Given the description of an element on the screen output the (x, y) to click on. 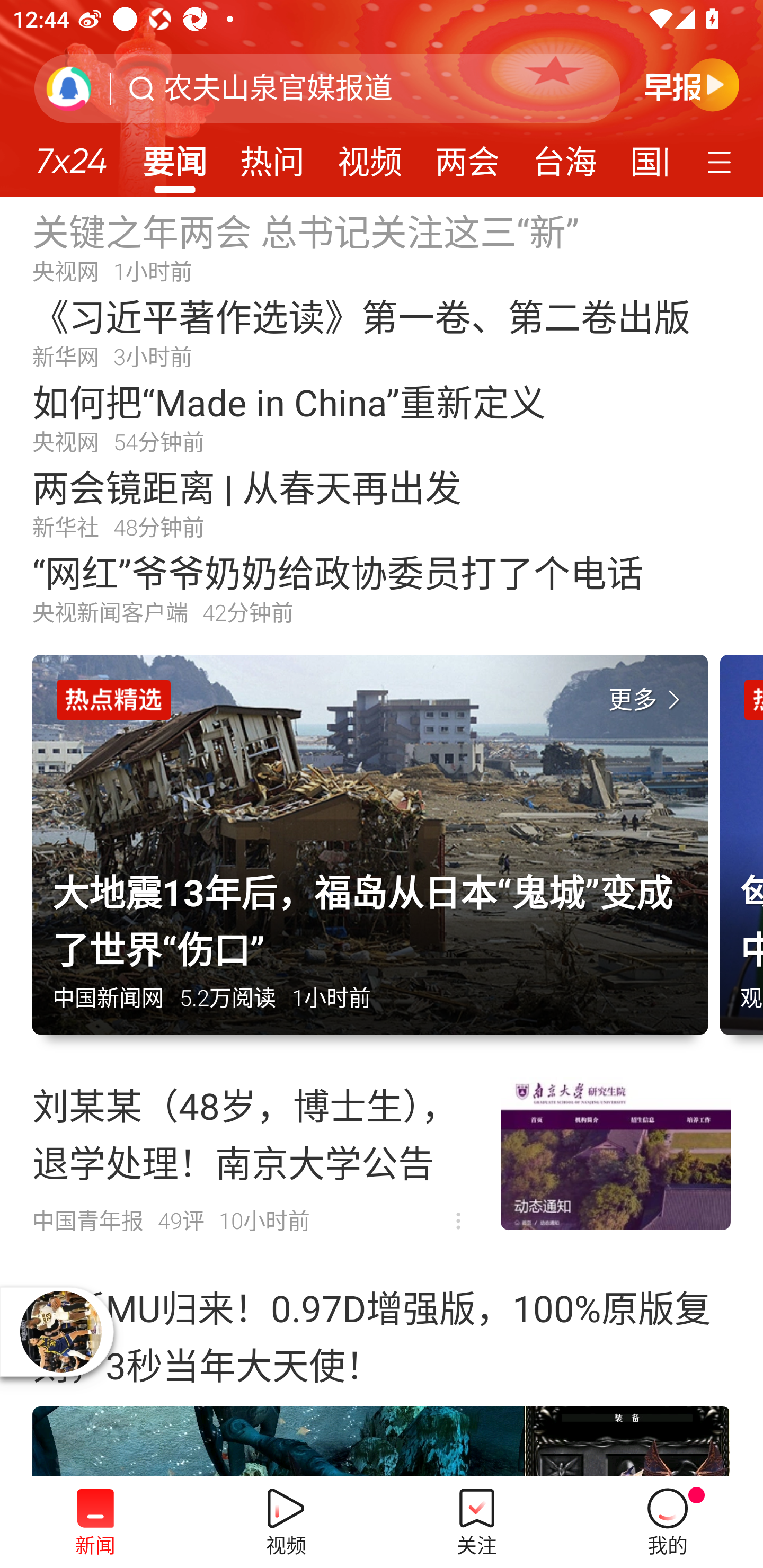
腾讯新闻 (381, 98)
早晚报 (691, 84)
刷新 (68, 88)
农夫山泉官媒报道 (278, 88)
7x24 (70, 154)
要闻 (174, 155)
热问 (272, 155)
视频 (369, 155)
两会 (466, 155)
台海 (564, 155)
 定制频道 (721, 160)
关键之年两会 总书记关注这三“新” 央视网 1小时前 (381, 245)
《习近平著作选读》第一卷、第二卷出版 新华网 3小时前 (381, 331)
如何把“Made in China”重新定义 央视网 54分钟前 (381, 416)
两会镜距离 | 从春天再出发 新华社 48分钟前 (381, 502)
“网红”爷爷奶奶给政协委员打了个电话 央视新闻客户端 42分钟前 (381, 587)
更多  (648, 699)
刘某某（48岁，博士生），退学处理！南京大学公告 中国青年报 49评 10小时前  不感兴趣 (381, 1153)
 不感兴趣 (458, 1221)
播放器 (62, 1331)
播放器 (61, 1331)
